Given the description of an element on the screen output the (x, y) to click on. 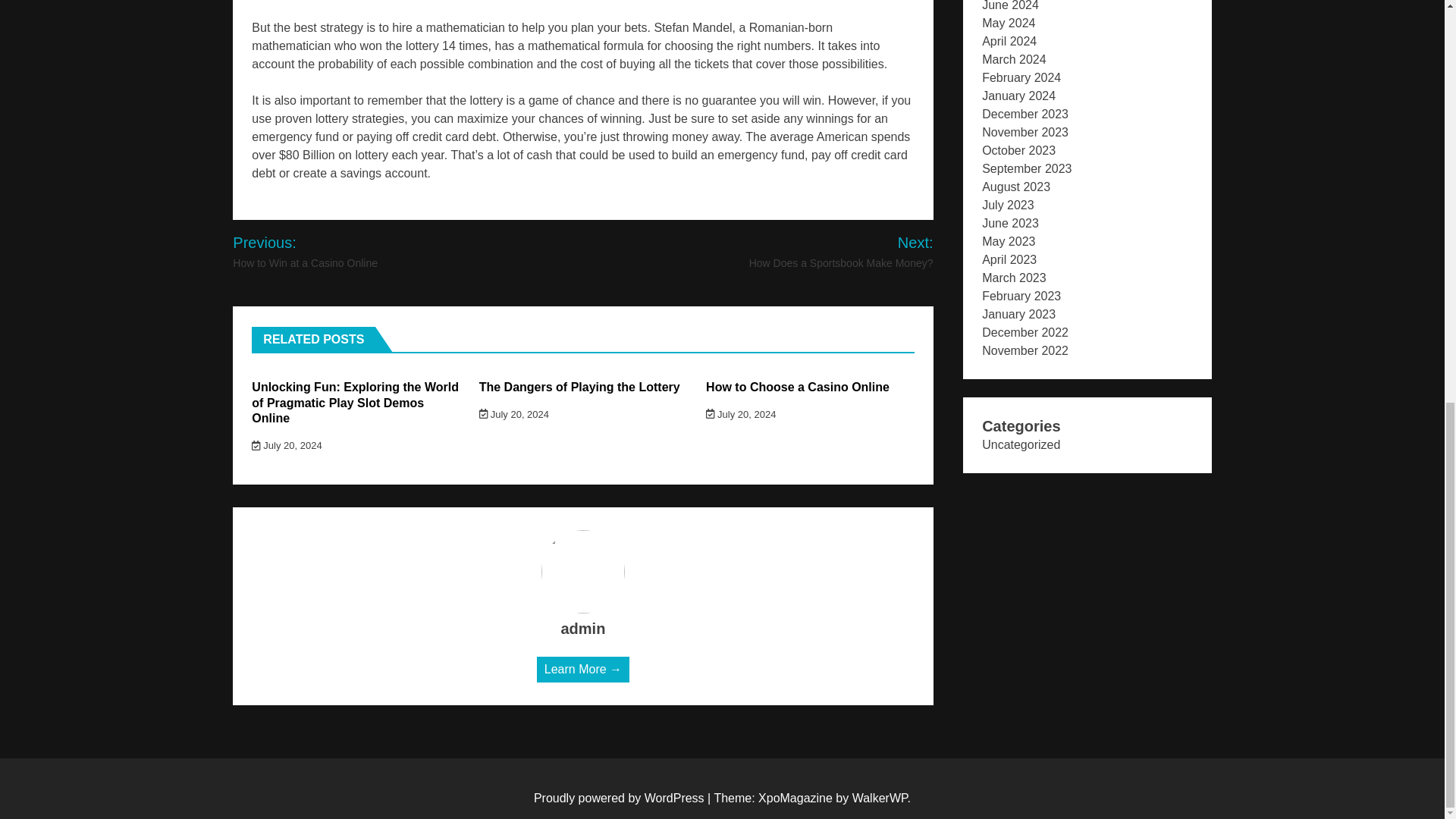
The Dangers of Playing the Lottery (579, 386)
How to Choose a Casino Online (797, 386)
Next: How Does a Sportsbook Make Money? (821, 250)
June 2024 (1010, 5)
July 20, 2024 (741, 414)
Previous: How to Win at a Casino Online (338, 250)
July 20, 2024 (513, 414)
July 20, 2024 (286, 445)
